Given the description of an element on the screen output the (x, y) to click on. 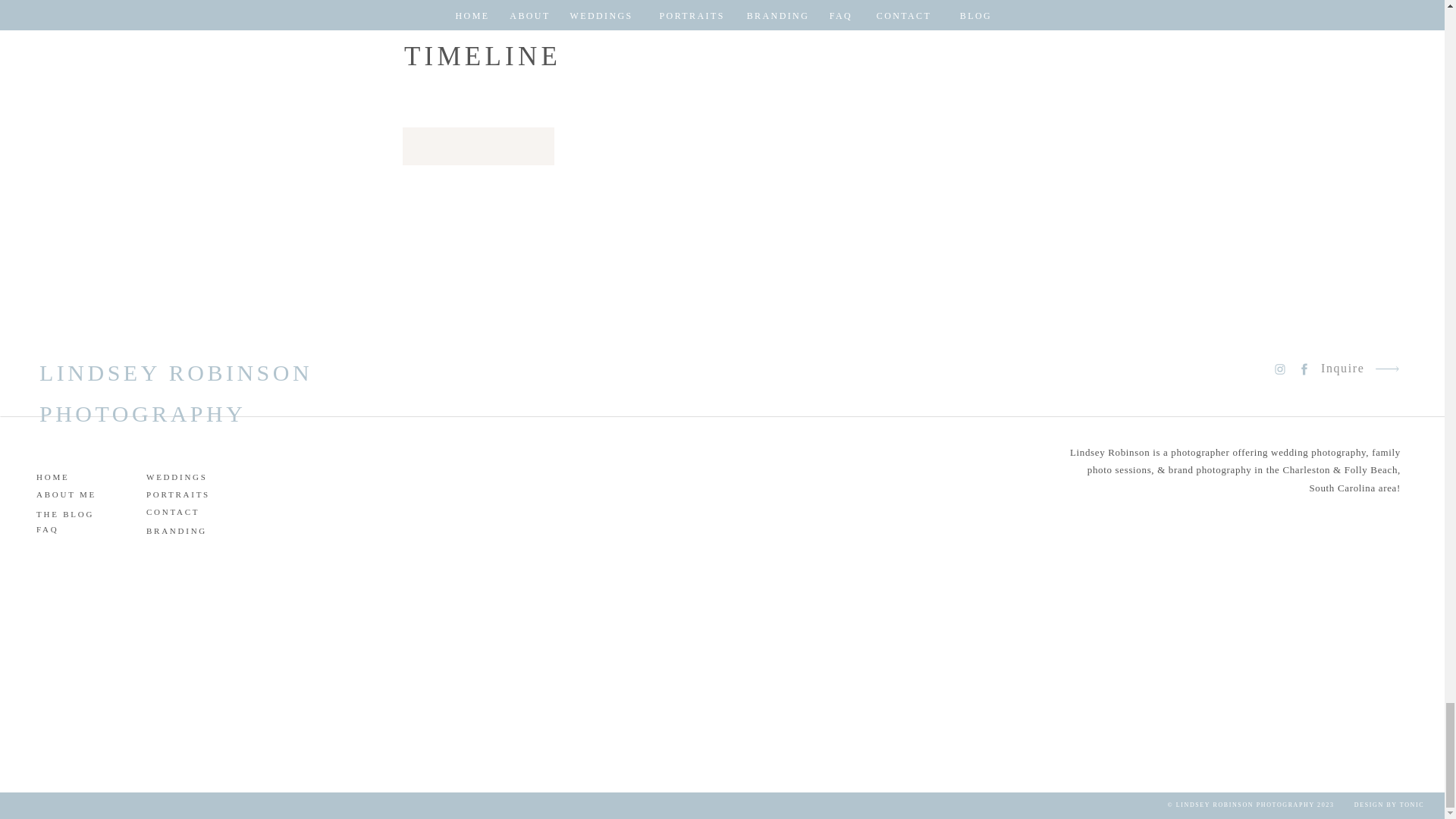
arrow (1386, 368)
